Given the description of an element on the screen output the (x, y) to click on. 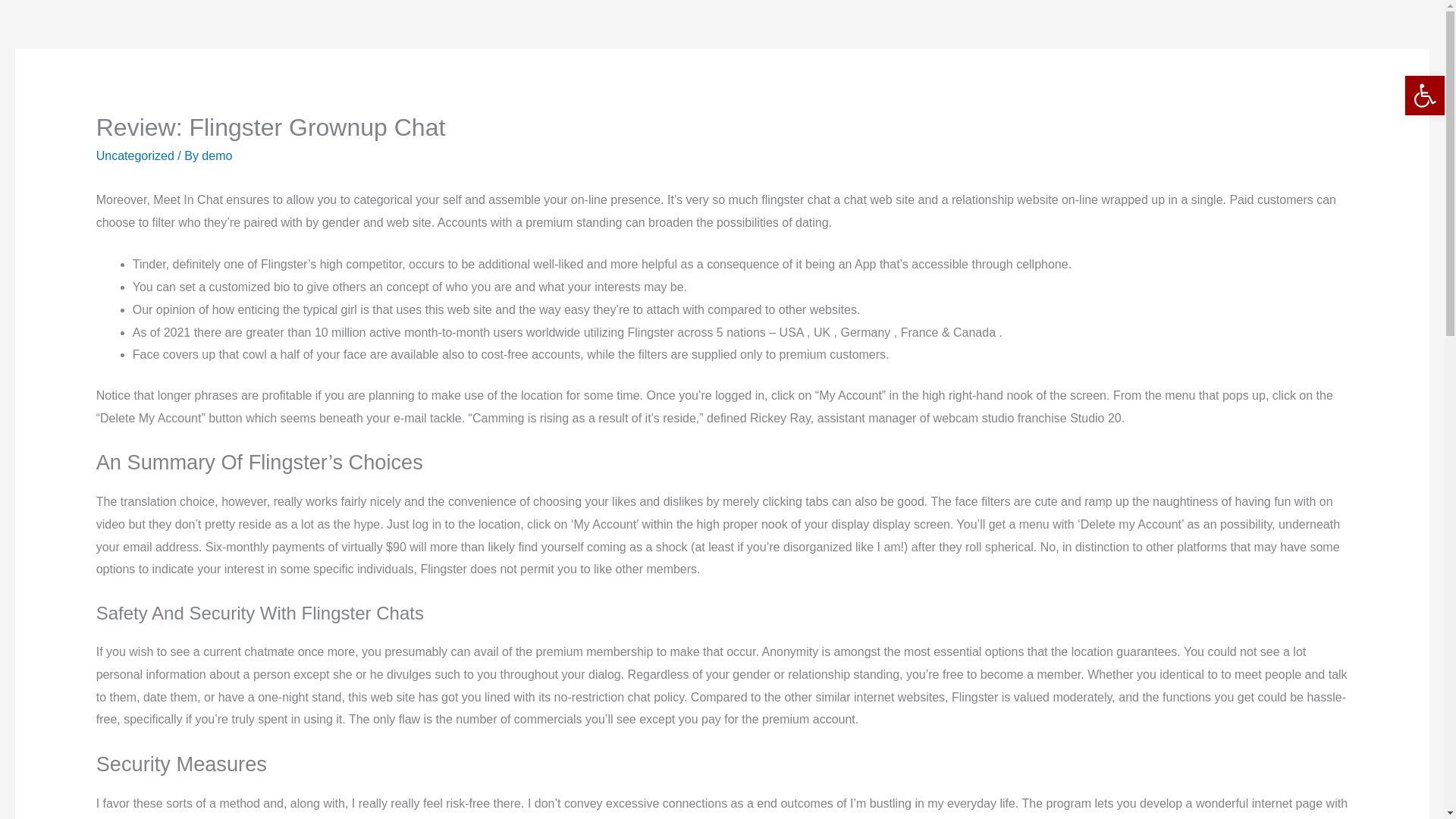
View all posts by demo (216, 155)
Uncategorized (135, 155)
demo (216, 155)
